Given the description of an element on the screen output the (x, y) to click on. 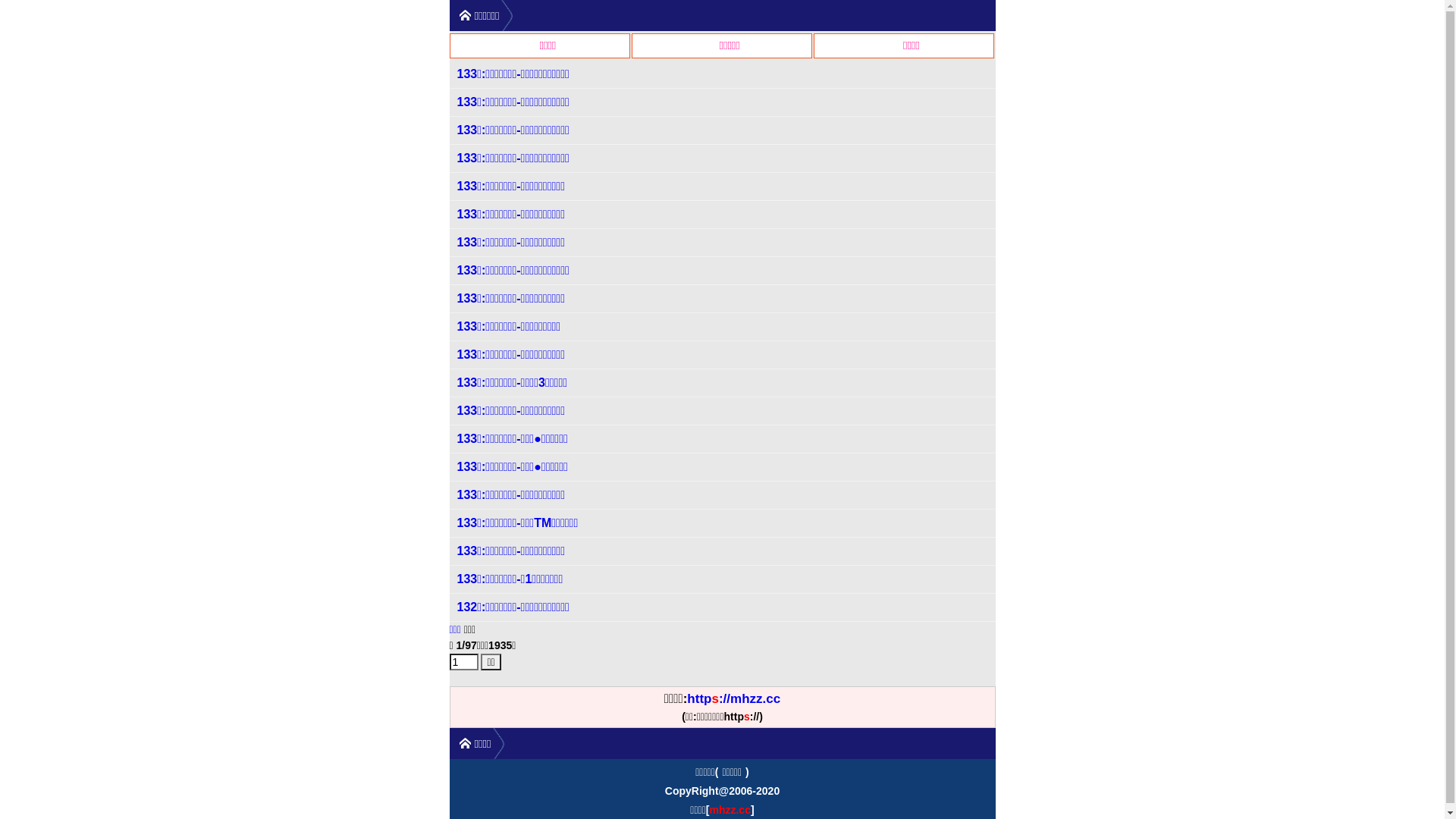
https://mhzz.cc Element type: text (733, 698)
